Given the description of an element on the screen output the (x, y) to click on. 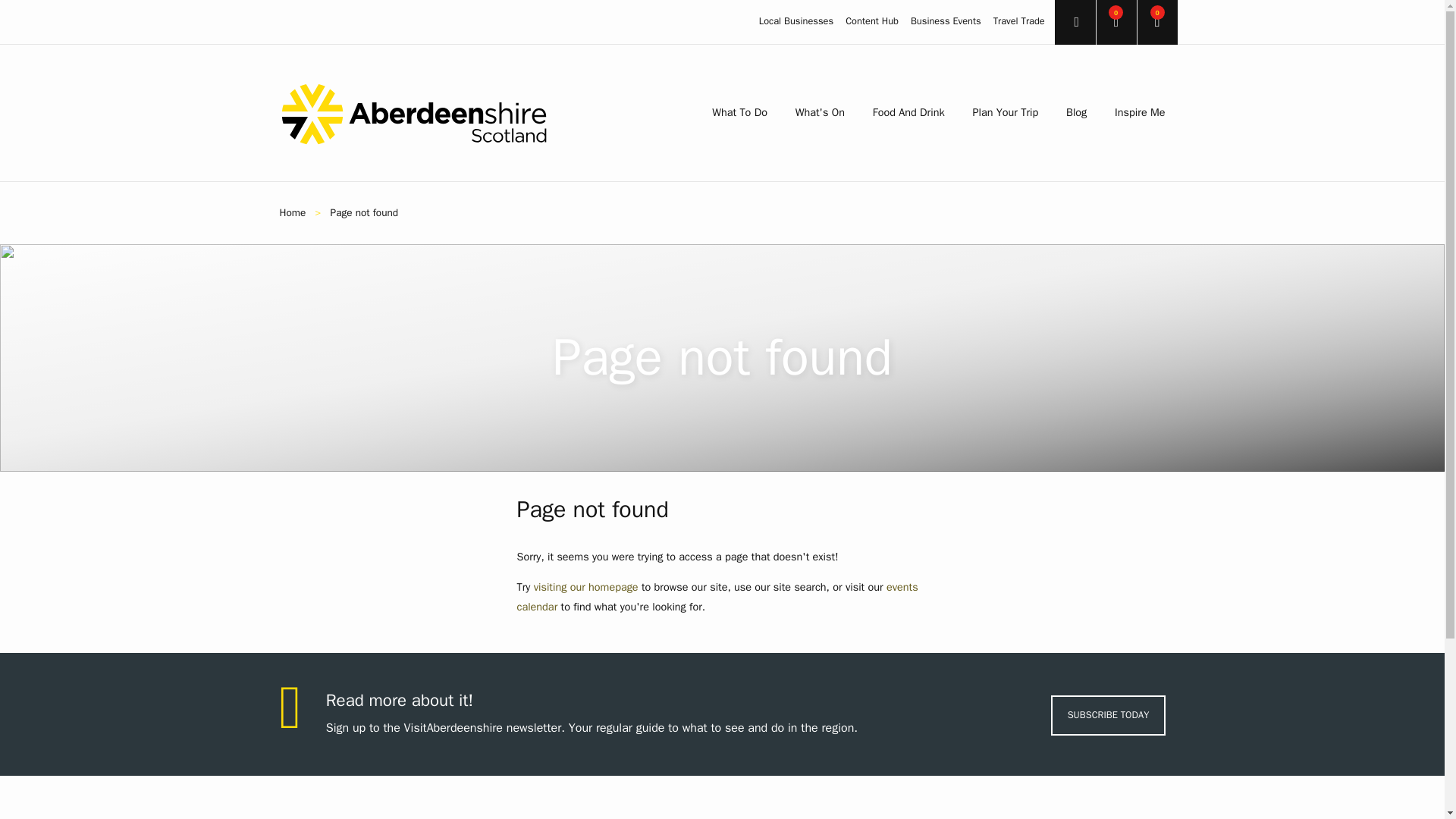
Local Businesses (795, 21)
Content Hub (871, 21)
Travel Trade (1018, 21)
Business Events (946, 21)
